Given the description of an element on the screen output the (x, y) to click on. 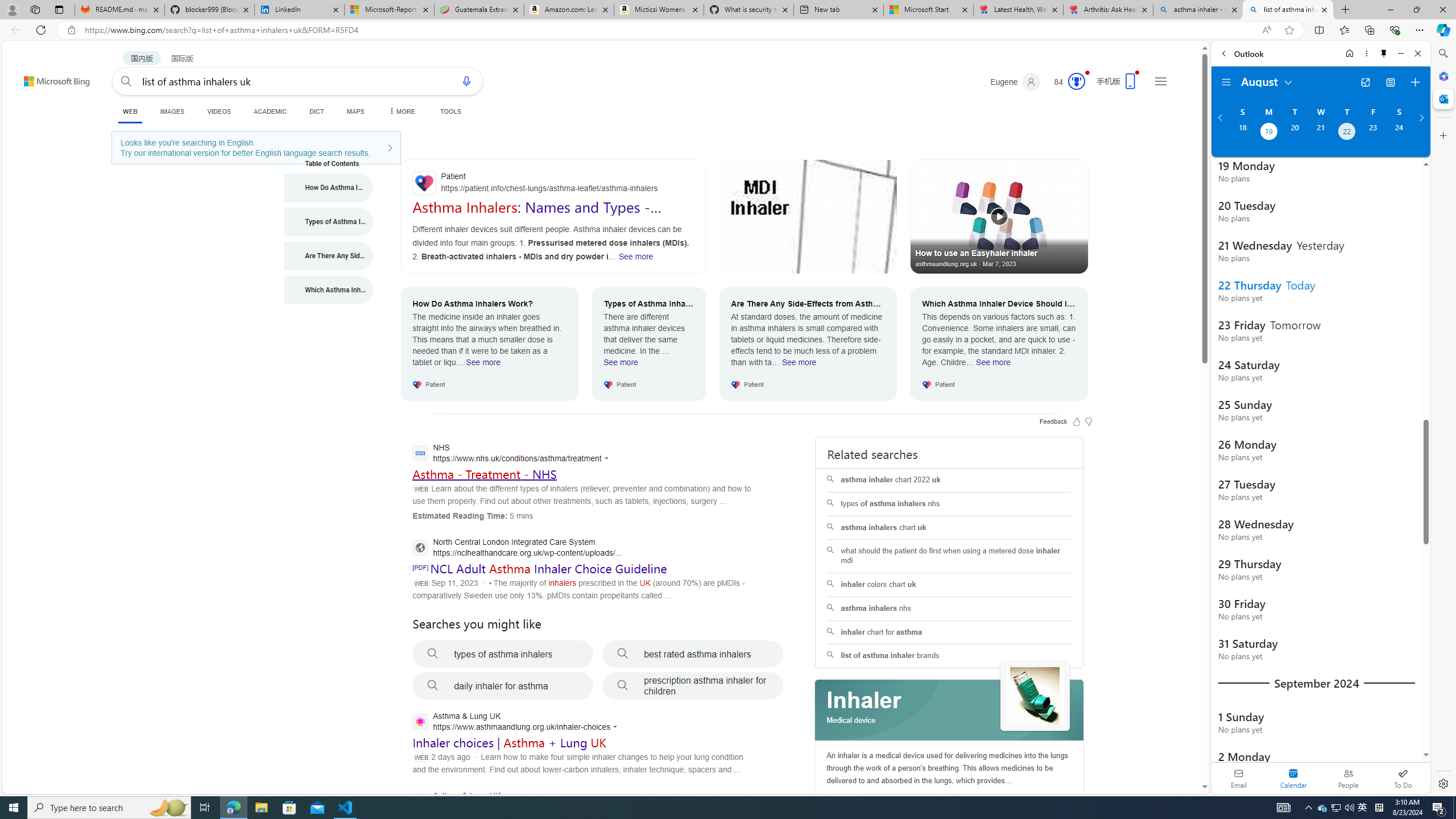
Arthritis: Ask Health Professionals (1107, 9)
TOOLS (450, 111)
prescription asthma inhaler for children (692, 685)
prescription asthma inhaler for children (692, 685)
inhaler colors chart uk (949, 584)
types of asthma inhalers nhs (949, 504)
Feedback Like (1076, 420)
